Given the description of an element on the screen output the (x, y) to click on. 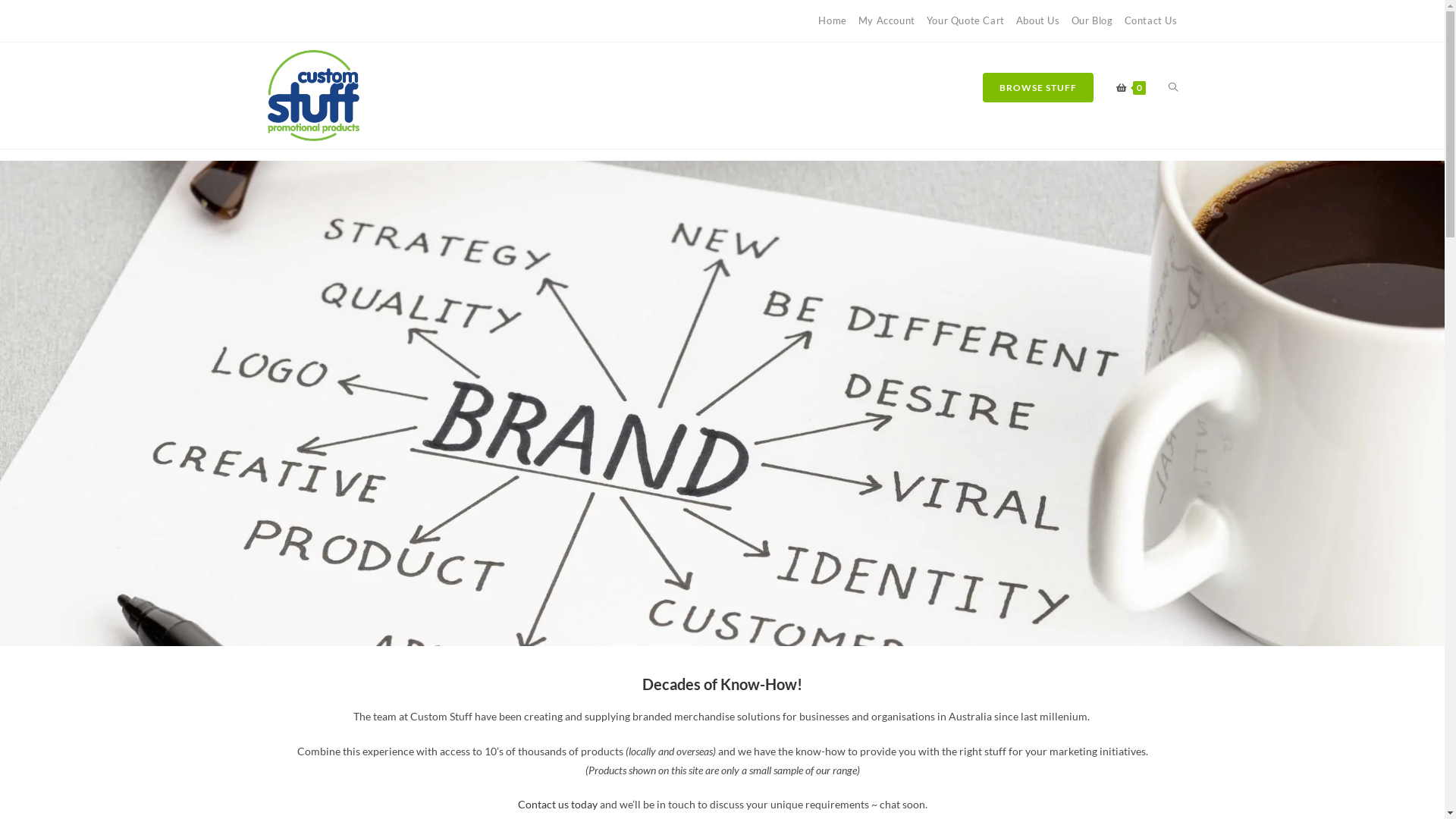
Your Quote Cart Element type: text (965, 20)
Contact us today Element type: text (556, 803)
About Us Element type: text (1038, 20)
Contact Us Element type: text (1149, 20)
0 Element type: text (1130, 87)
BROWSE STUFF Element type: text (1037, 87)
My Account Element type: text (886, 20)
Our Blog Element type: text (1092, 20)
Home Element type: text (832, 20)
